Given the description of an element on the screen output the (x, y) to click on. 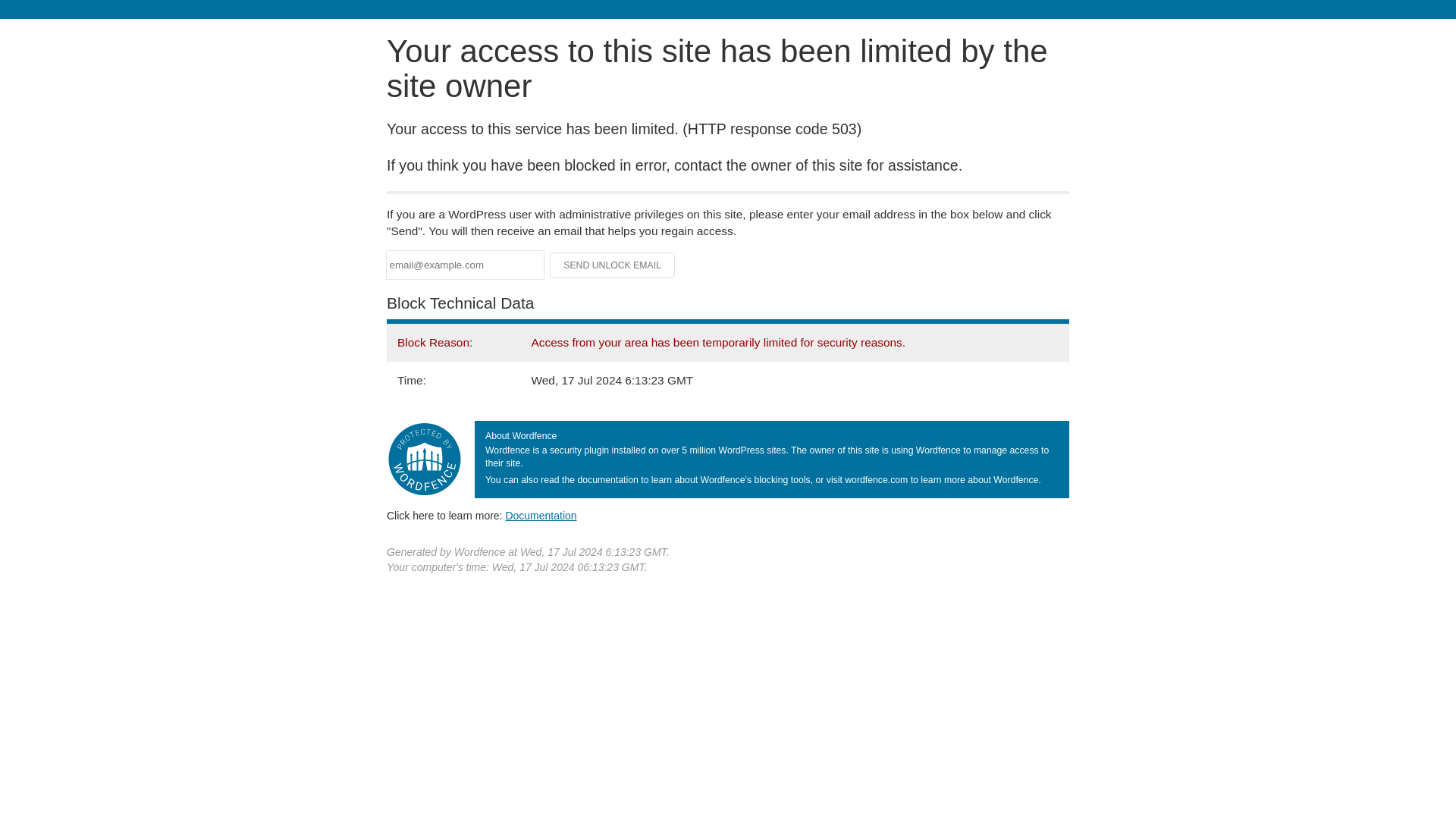
Send Unlock Email (612, 265)
Send Unlock Email (612, 265)
Documentation (540, 515)
